Given the description of an element on the screen output the (x, y) to click on. 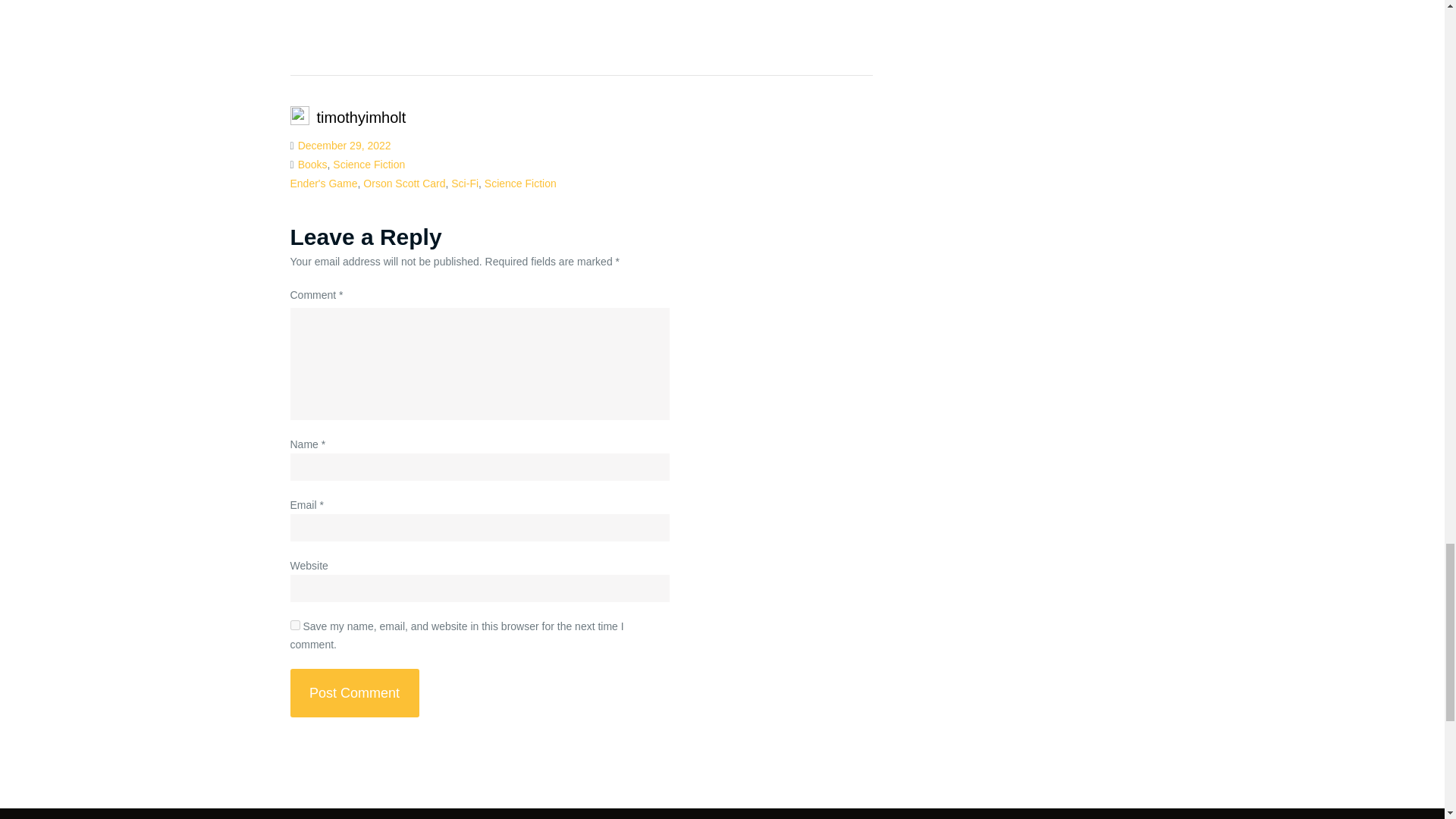
Post Comment (354, 693)
Sci-Fi (465, 183)
Post Comment (354, 693)
Science Fiction (520, 183)
Ender's Game (322, 183)
Books (312, 164)
Science Fiction (368, 164)
Orson Scott Card (403, 183)
timothyimholt (361, 117)
yes (294, 624)
